Given the description of an element on the screen output the (x, y) to click on. 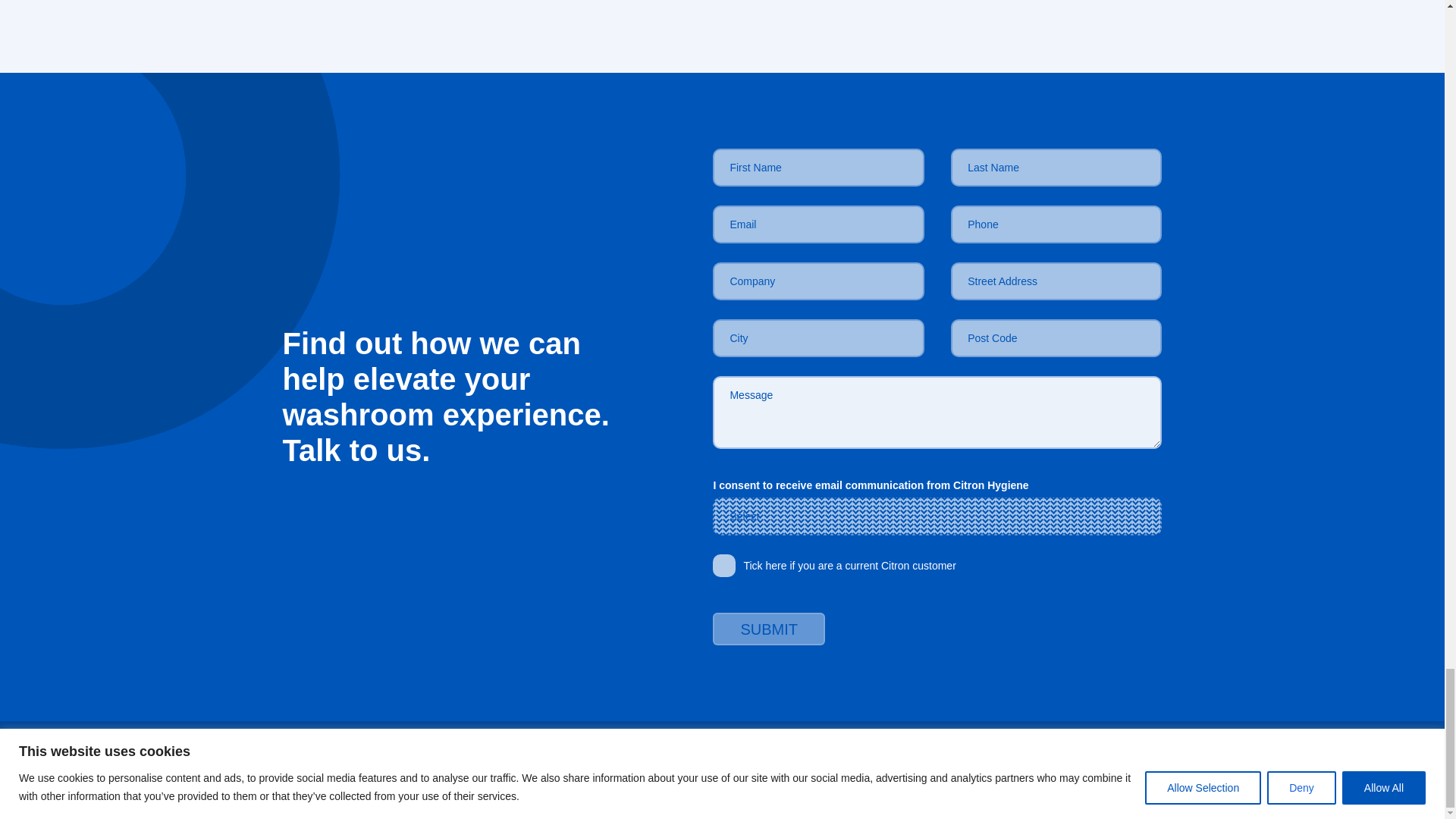
1 (724, 565)
Submit (769, 628)
